Given the description of an element on the screen output the (x, y) to click on. 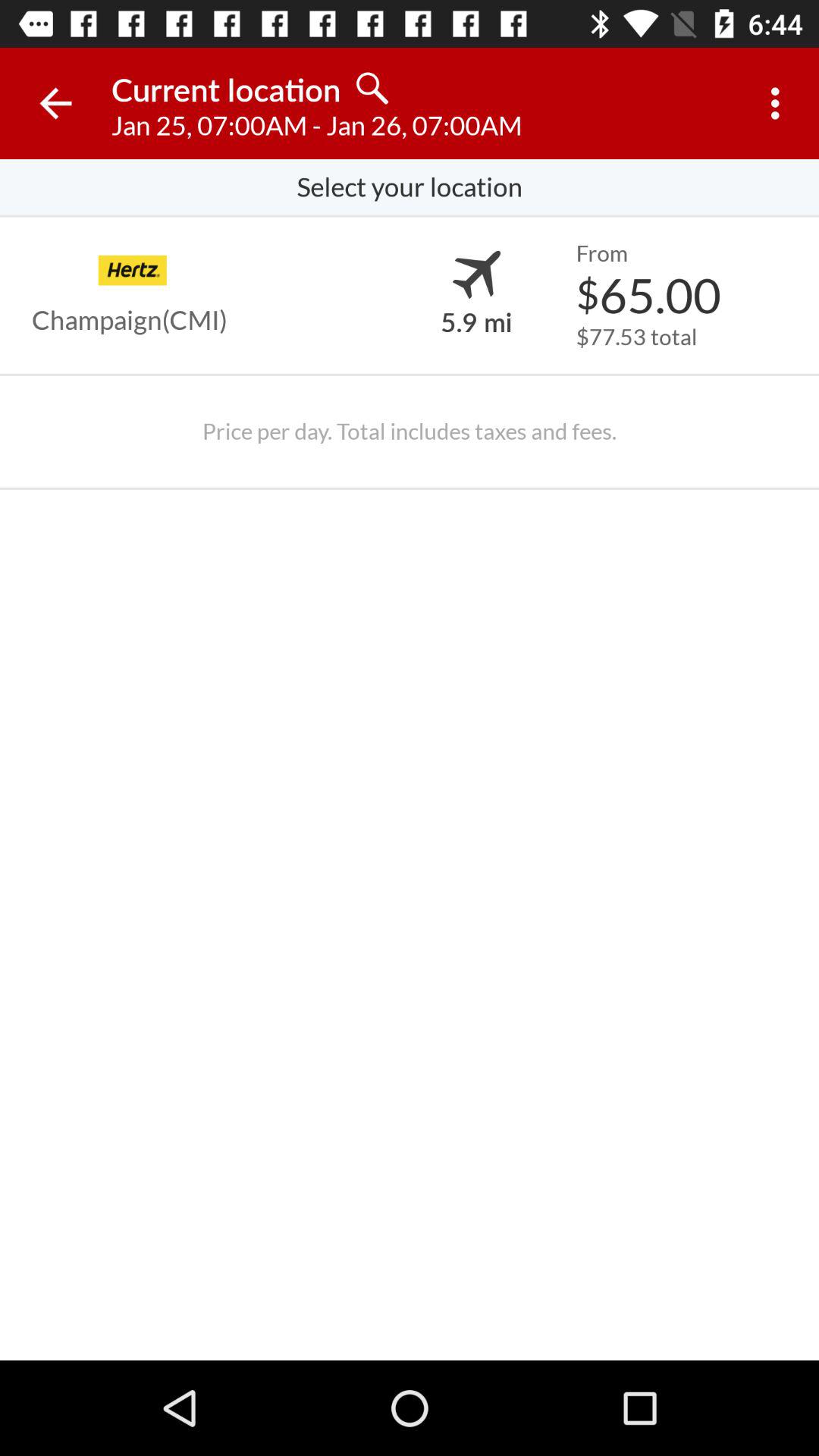
turn on the item above the champaign(cmi) icon (132, 270)
